Given the description of an element on the screen output the (x, y) to click on. 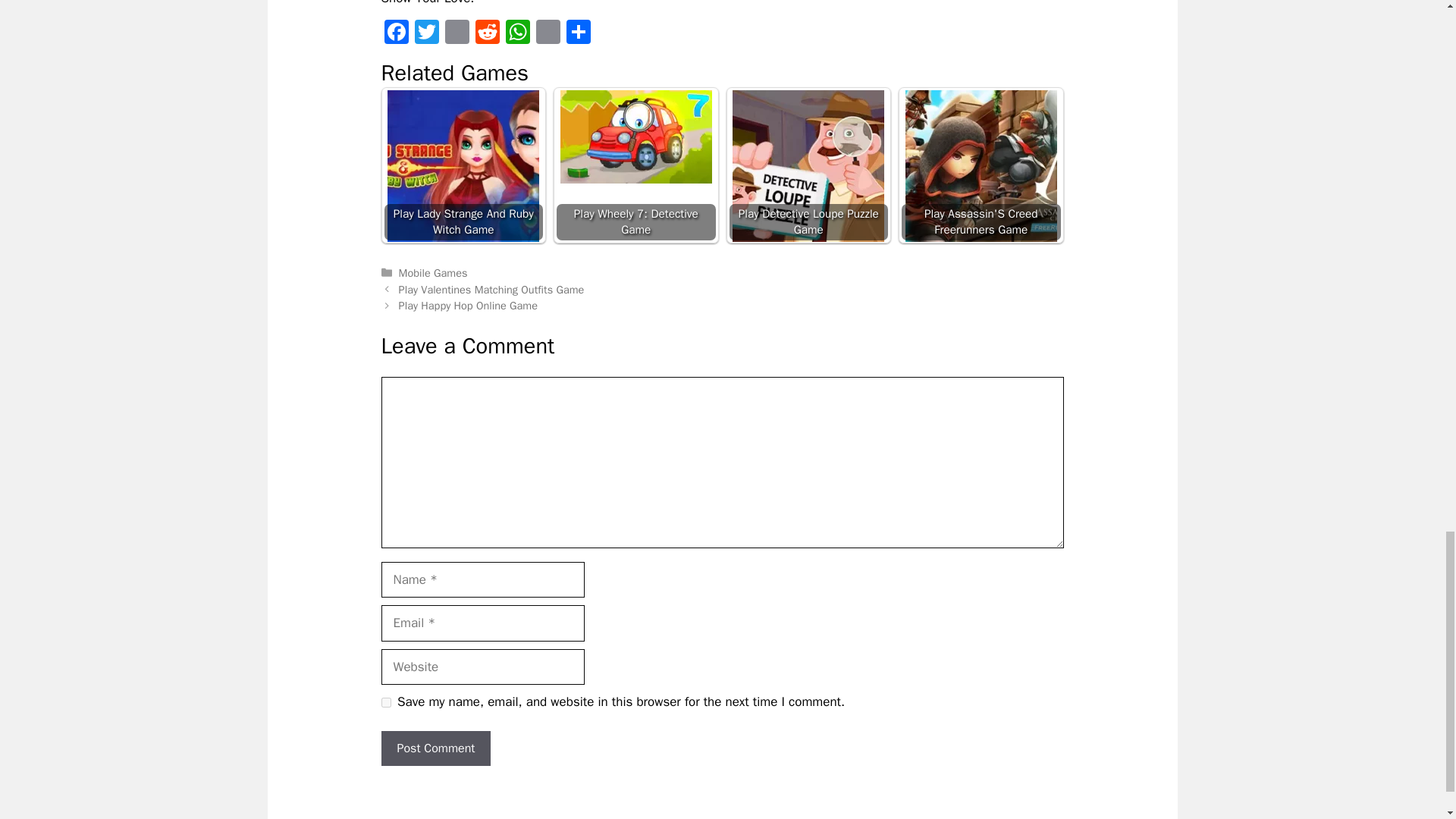
Play Wheely 7: Detective Game (635, 136)
Play Detective Loupe Puzzle Game (807, 164)
Play Valentines Matching Outfits Game (491, 289)
Share (577, 33)
Copy Link (547, 33)
Twitter (425, 33)
yes (385, 702)
Reddit (486, 33)
Email (456, 33)
Play Assassin'S Creed Freerunners Game (980, 164)
